Given the description of an element on the screen output the (x, y) to click on. 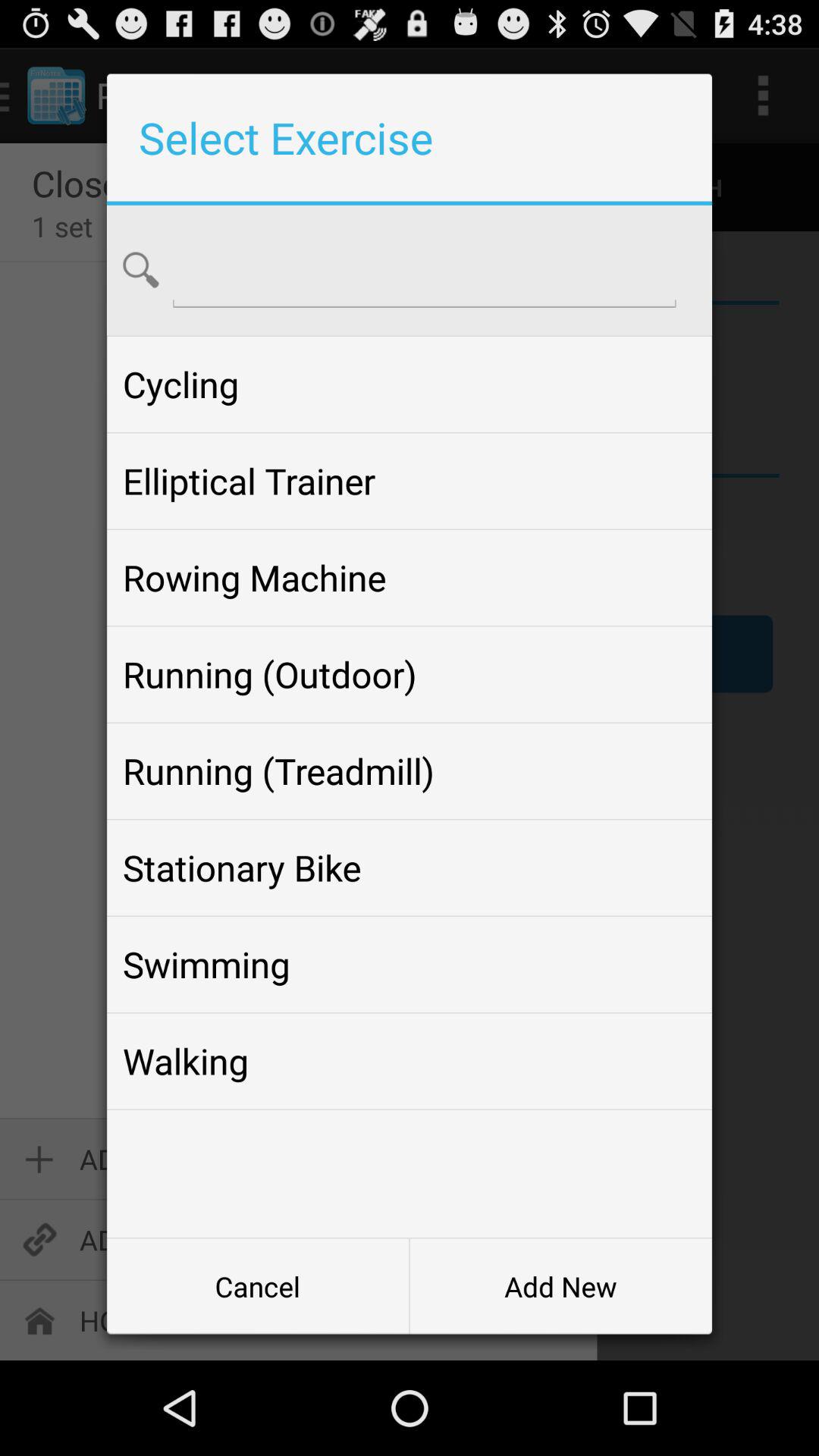
turn off the item above running (treadmill) (409, 674)
